Given the description of an element on the screen output the (x, y) to click on. 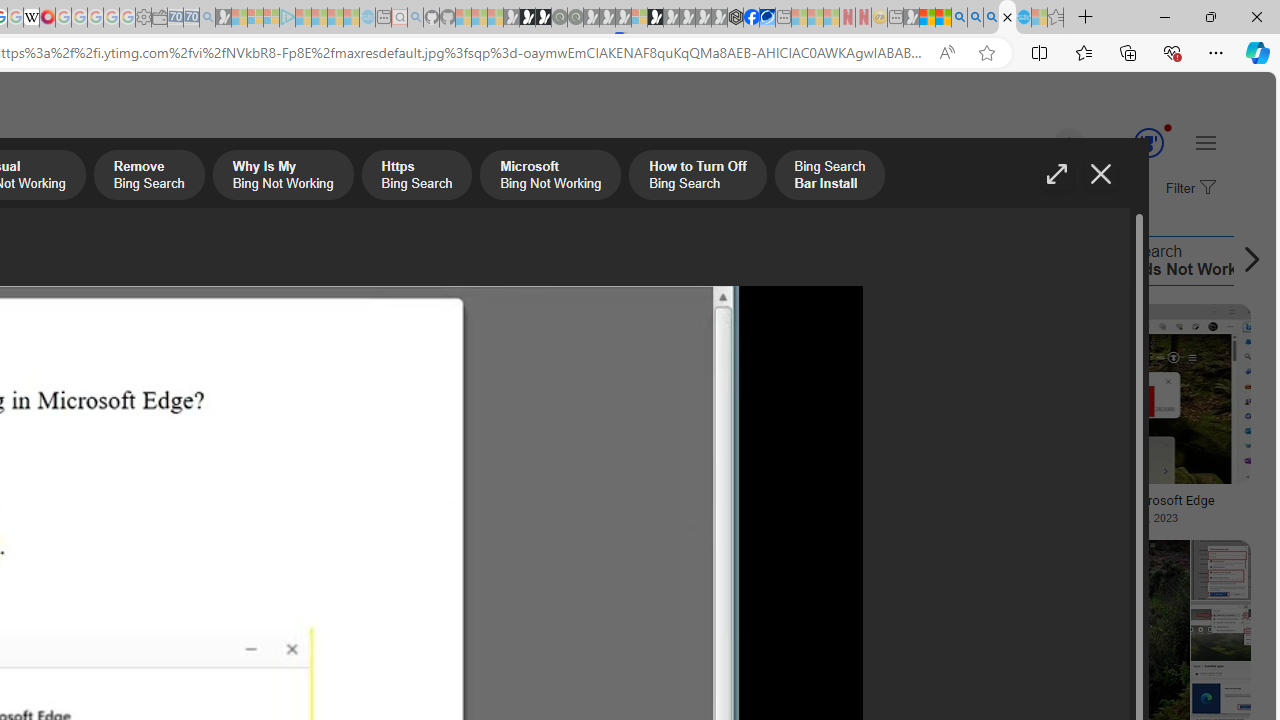
Fix Bing Search Not Working In Microsoft Edge (1093, 500)
Target page - Wikipedia (31, 17)
Nordace - Cooler Bags (735, 17)
AirNow.gov (767, 17)
Crosby Christmas Album (134, 373)
github - Search - Sleeping (415, 17)
Why Is My Bing Not Working (283, 177)
Bing Not Working Properly (641, 260)
